Given the description of an element on the screen output the (x, y) to click on. 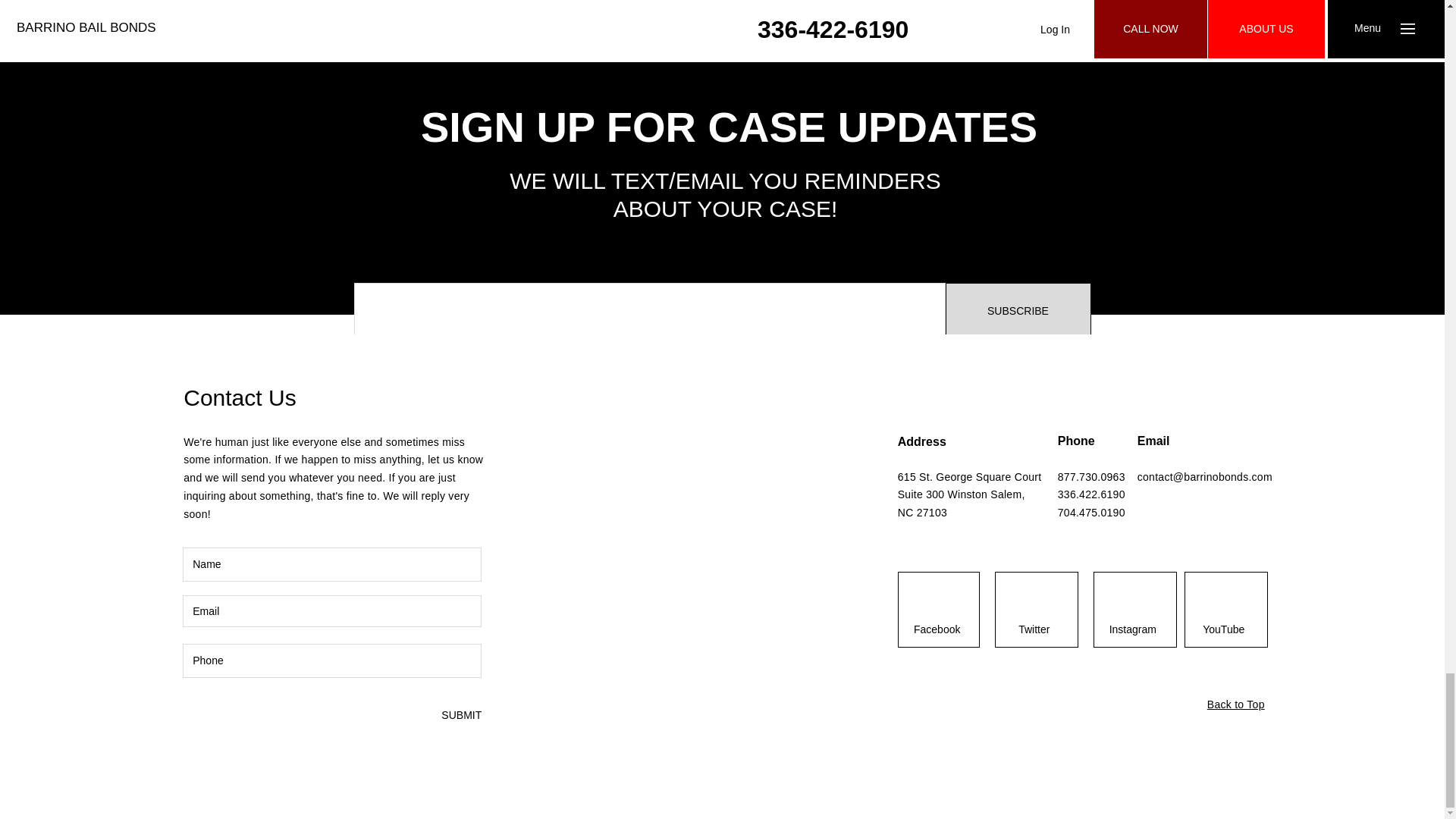
Twitter (1034, 630)
Facebook (936, 630)
SUBSCRIBE (1017, 310)
SUBMIT (460, 715)
